Given the description of an element on the screen output the (x, y) to click on. 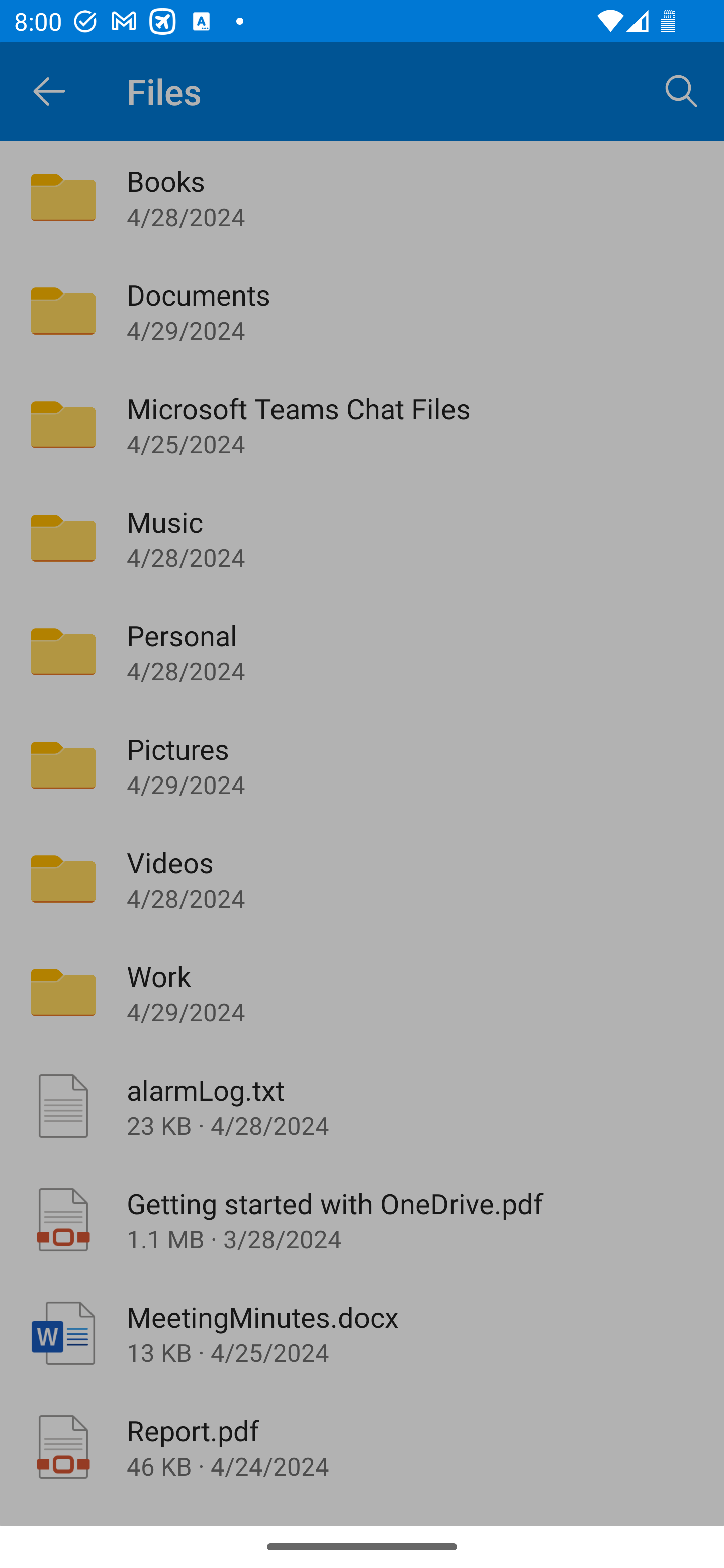
Navigate up (49, 91)
Search (681, 90)
Books 4/28/2024 (362, 197)
Documents 4/29/2024 (362, 311)
Microsoft Teams Chat Files 4/25/2024 (362, 424)
Music 4/28/2024 (362, 537)
Personal 4/28/2024 (362, 651)
Pictures 4/29/2024 (362, 764)
Videos 4/28/2024 (362, 878)
Work 4/29/2024 (362, 992)
alarmLog.txt 23 KB · 4/28/2024 (362, 1105)
MeetingMinutes.docx 13 KB · 4/25/2024 (362, 1333)
Report.pdf 46 KB · 4/24/2024 (362, 1446)
